Given the description of an element on the screen output the (x, y) to click on. 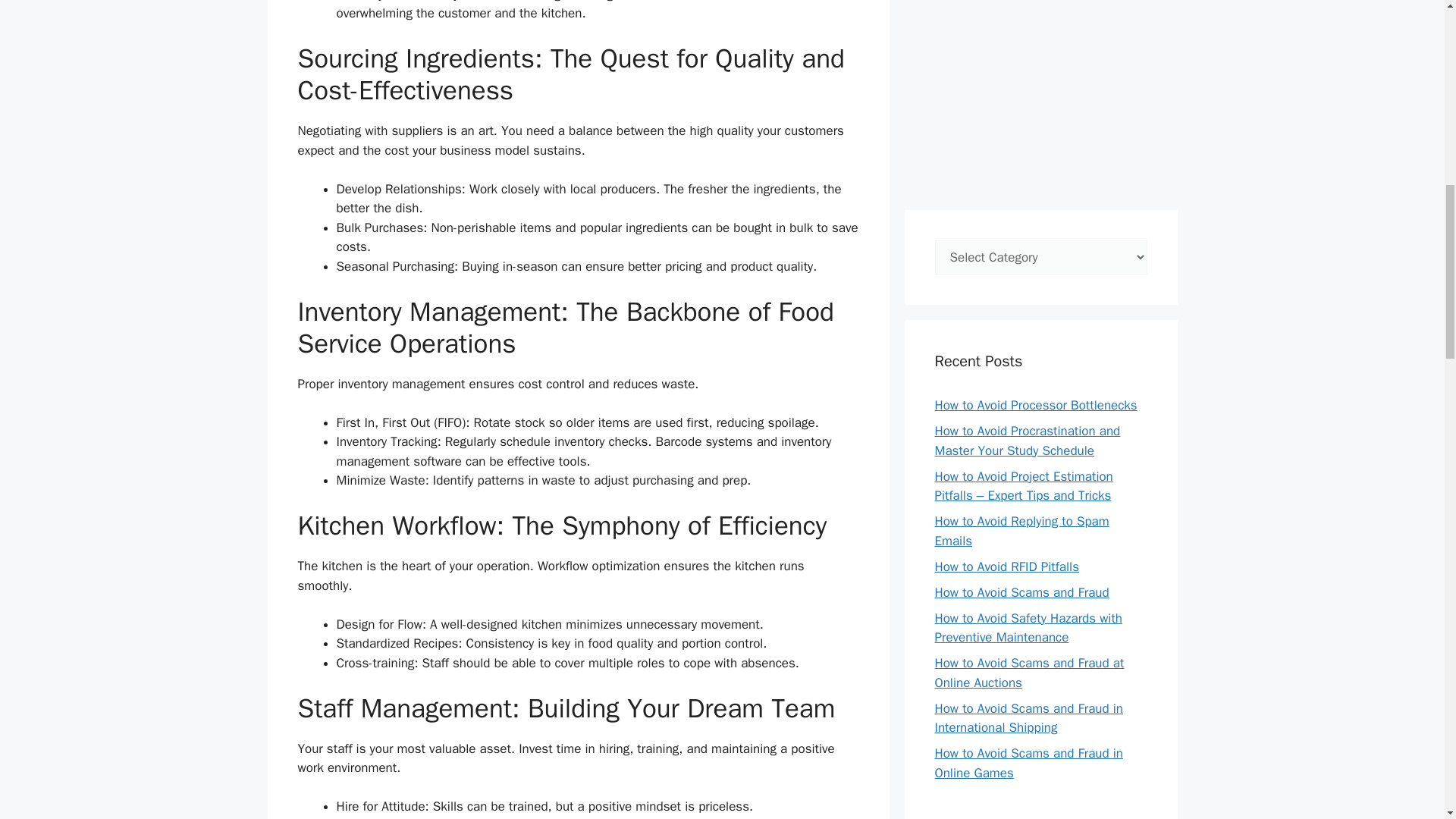
How to Avoid Processor Bottlenecks (1035, 405)
How to Avoid Procrastination and Master Your Study Schedule (1026, 440)
Advertisement (1040, 97)
